Given the description of an element on the screen output the (x, y) to click on. 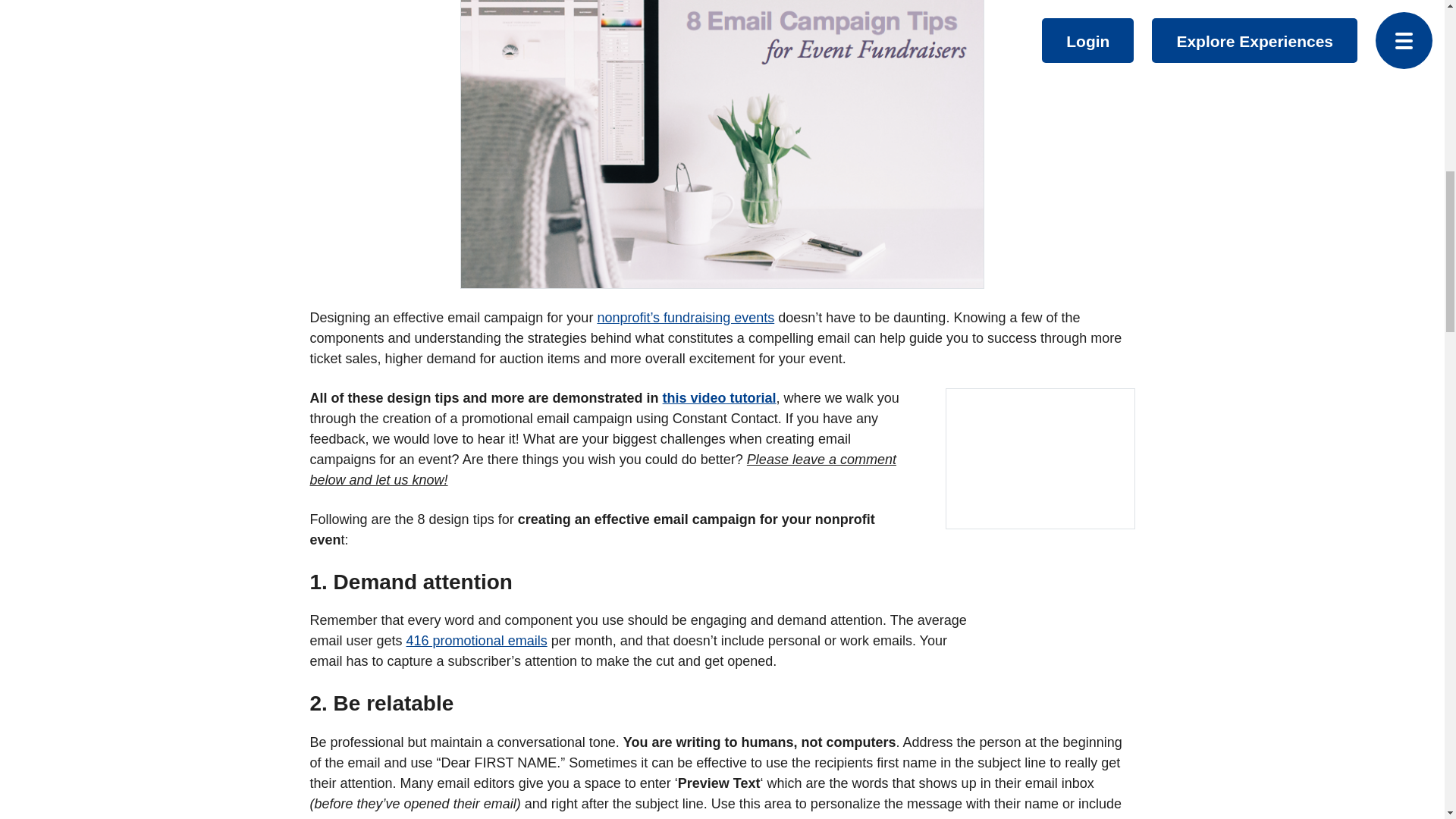
this video tutorial (719, 397)
416 promotional emails (476, 640)
